Given the description of an element on the screen output the (x, y) to click on. 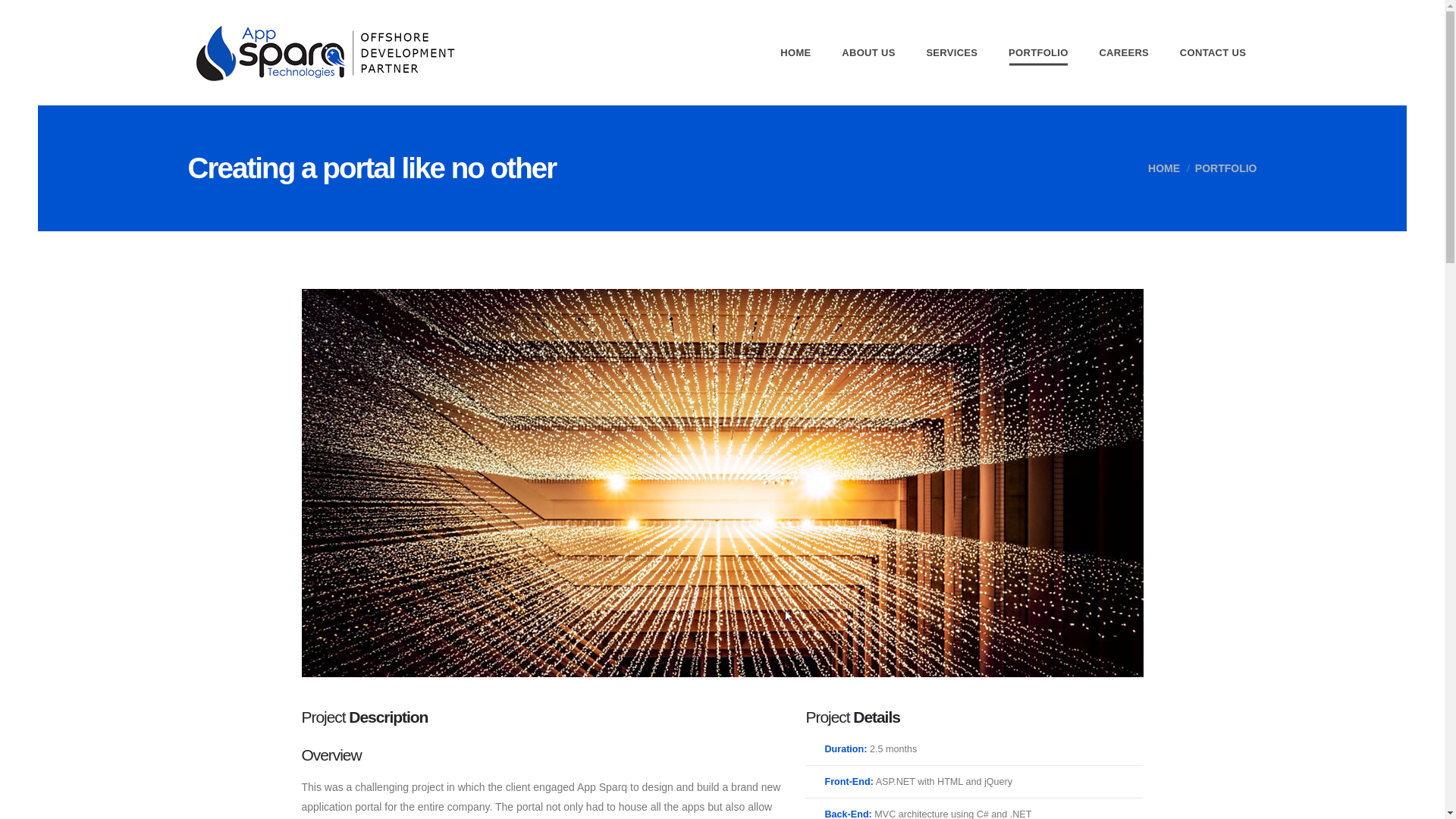
PORTFOLIO (1217, 168)
HOME (1153, 168)
